Given the description of an element on the screen output the (x, y) to click on. 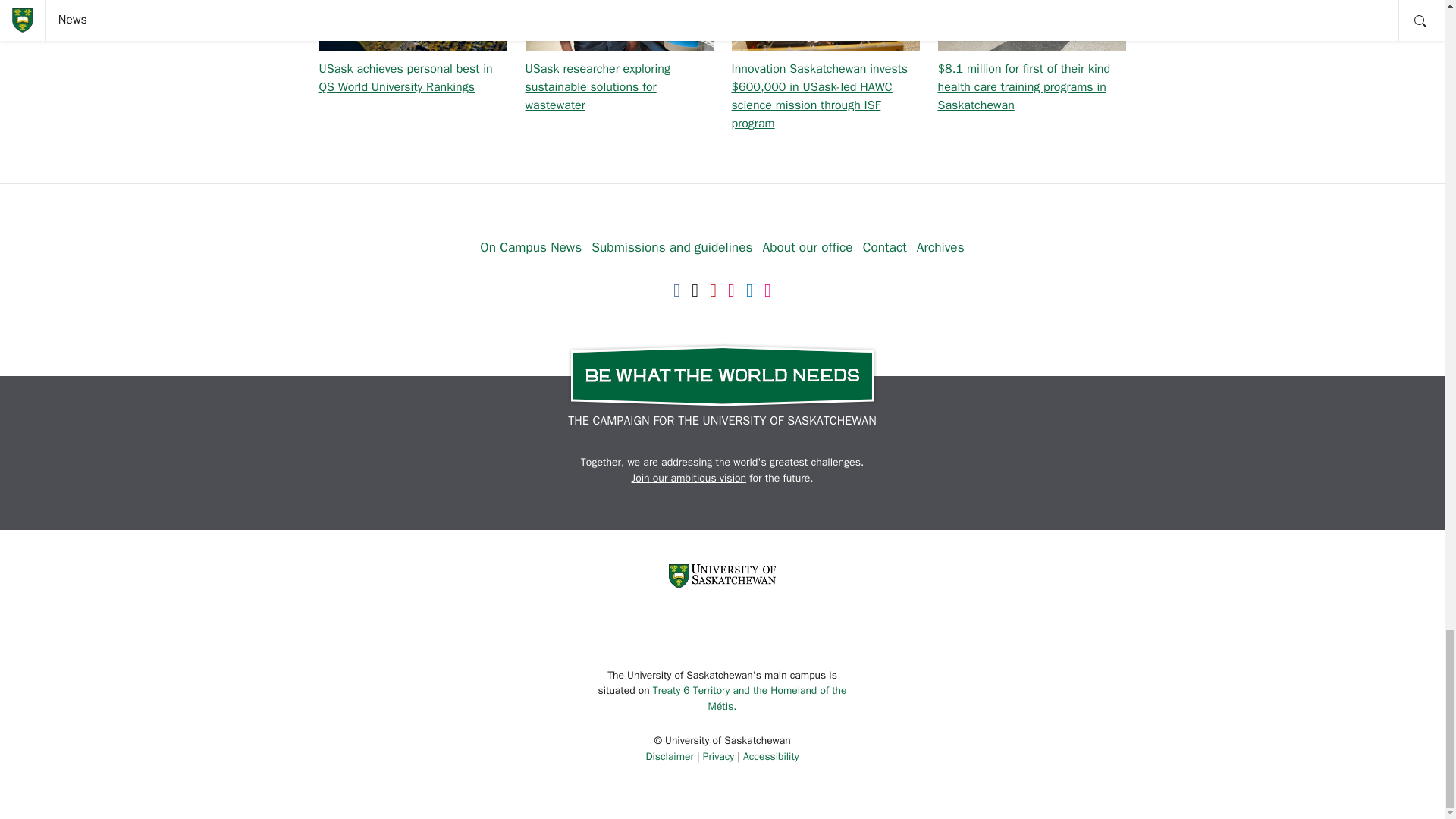
Disclaimer (669, 756)
Accessibility (770, 756)
Archives (940, 247)
About our office (807, 247)
Submissions and guidelines (671, 247)
Join our ambitious vision (688, 477)
Privacy (718, 756)
USask achieves personal best in QS World University Rankings (405, 78)
On Campus News (530, 247)
Contact (885, 247)
